Given the description of an element on the screen output the (x, y) to click on. 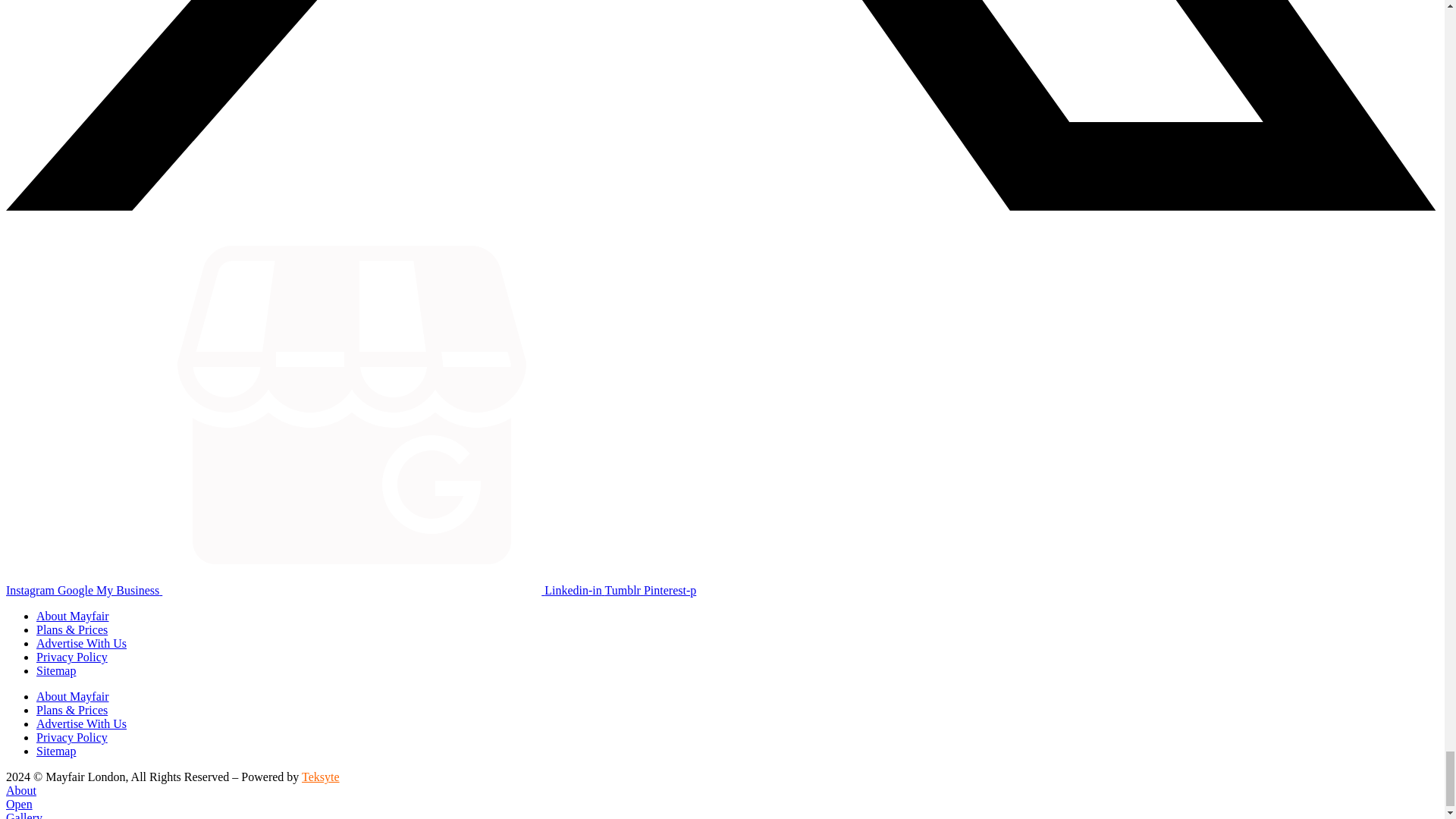
Web design services (320, 776)
